Given the description of an element on the screen output the (x, y) to click on. 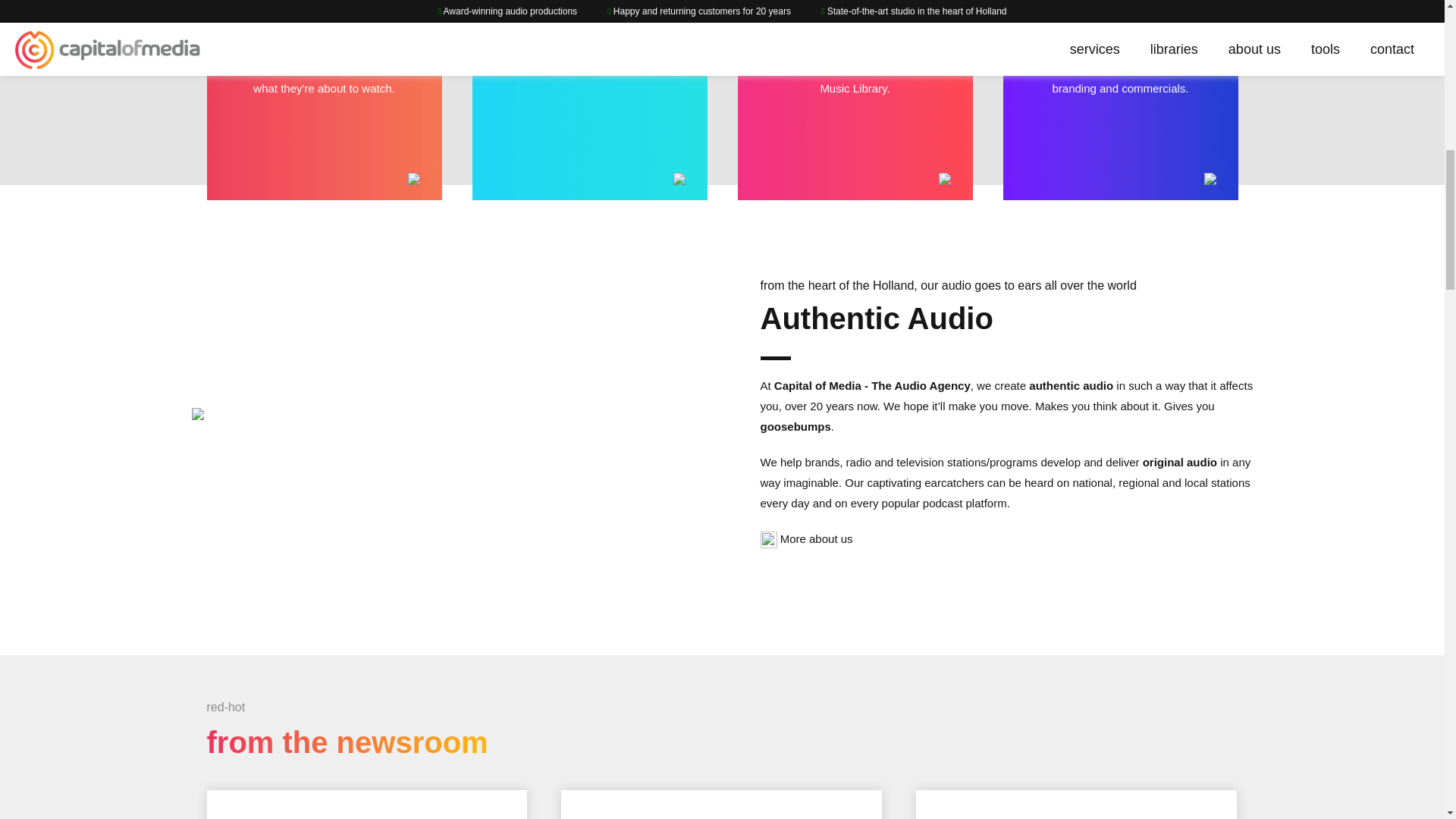
More about us (816, 538)
